Given the description of an element on the screen output the (x, y) to click on. 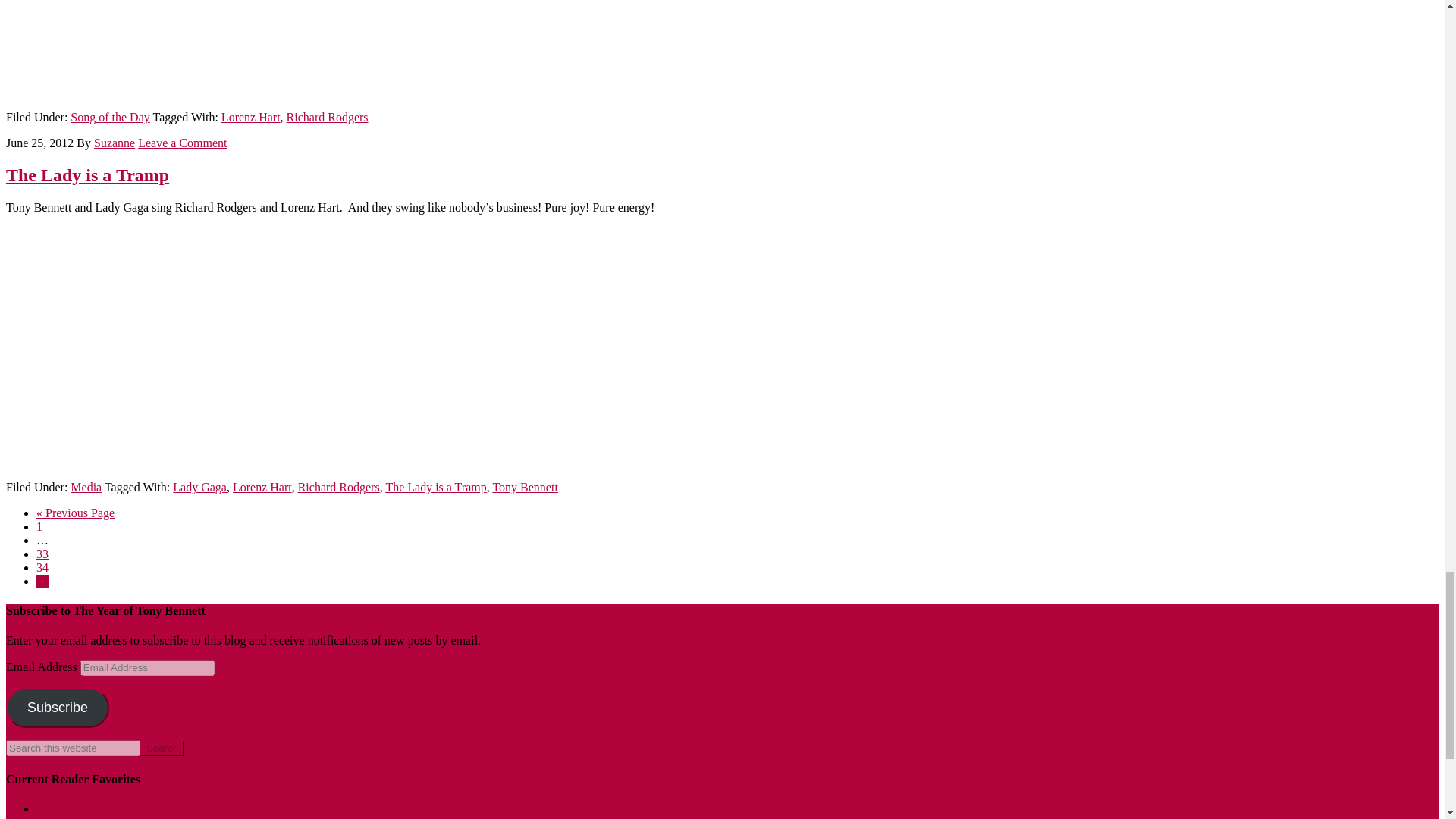
Search (161, 747)
Search (161, 747)
